Given the description of an element on the screen output the (x, y) to click on. 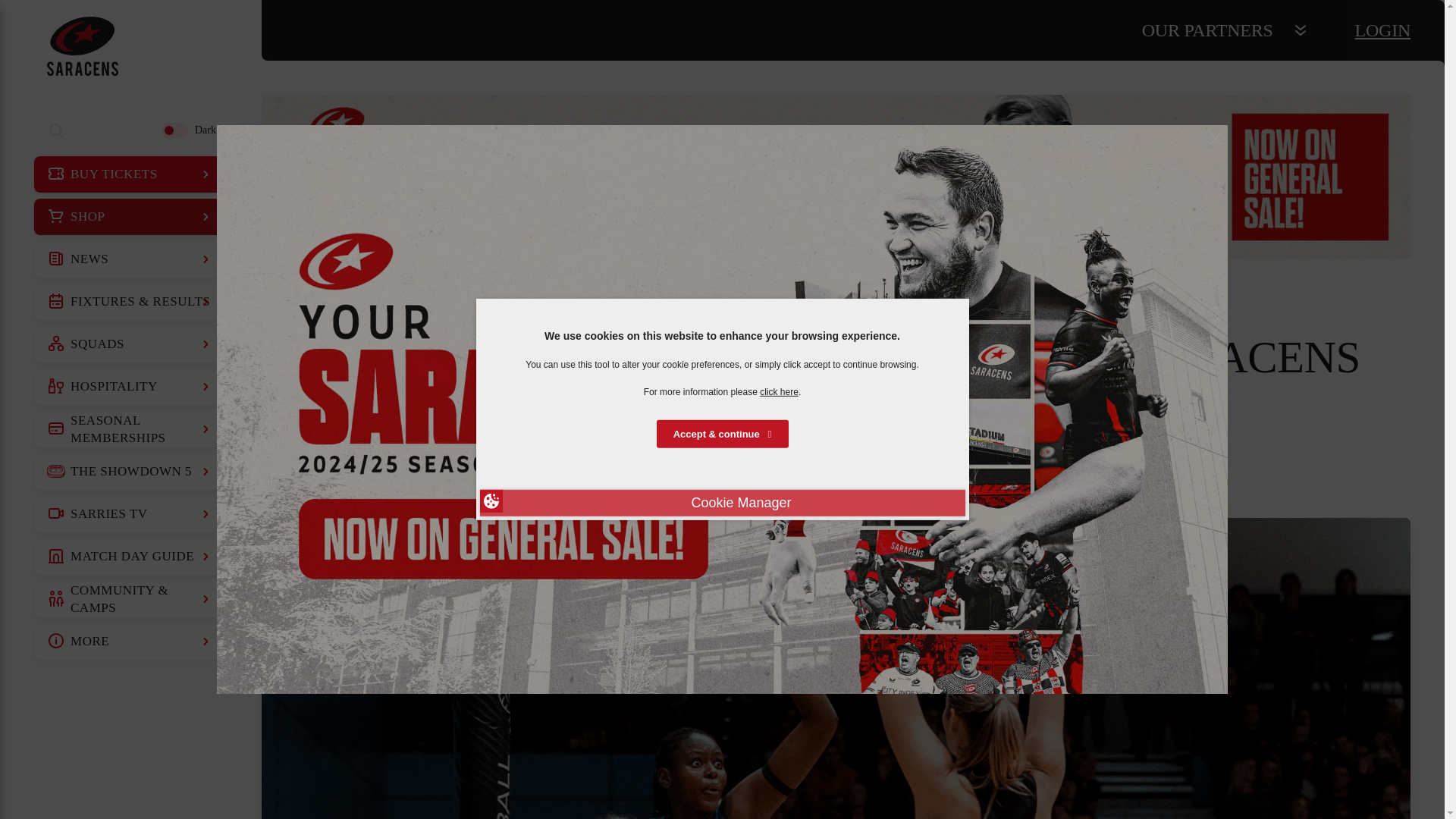
NEWS (130, 258)
SQUADS (130, 343)
MORE (130, 641)
BUY TICKETS (130, 174)
SEASONAL MEMBERSHIPS (130, 429)
SARRIES TV (130, 514)
SHOP (130, 217)
Cookie Manager (721, 502)
Search (55, 130)
THE SHOWDOWN 5 (130, 471)
MATCH DAY GUIDE (130, 556)
HOSPITALITY (130, 386)
LOGIN (1382, 29)
